Given the description of an element on the screen output the (x, y) to click on. 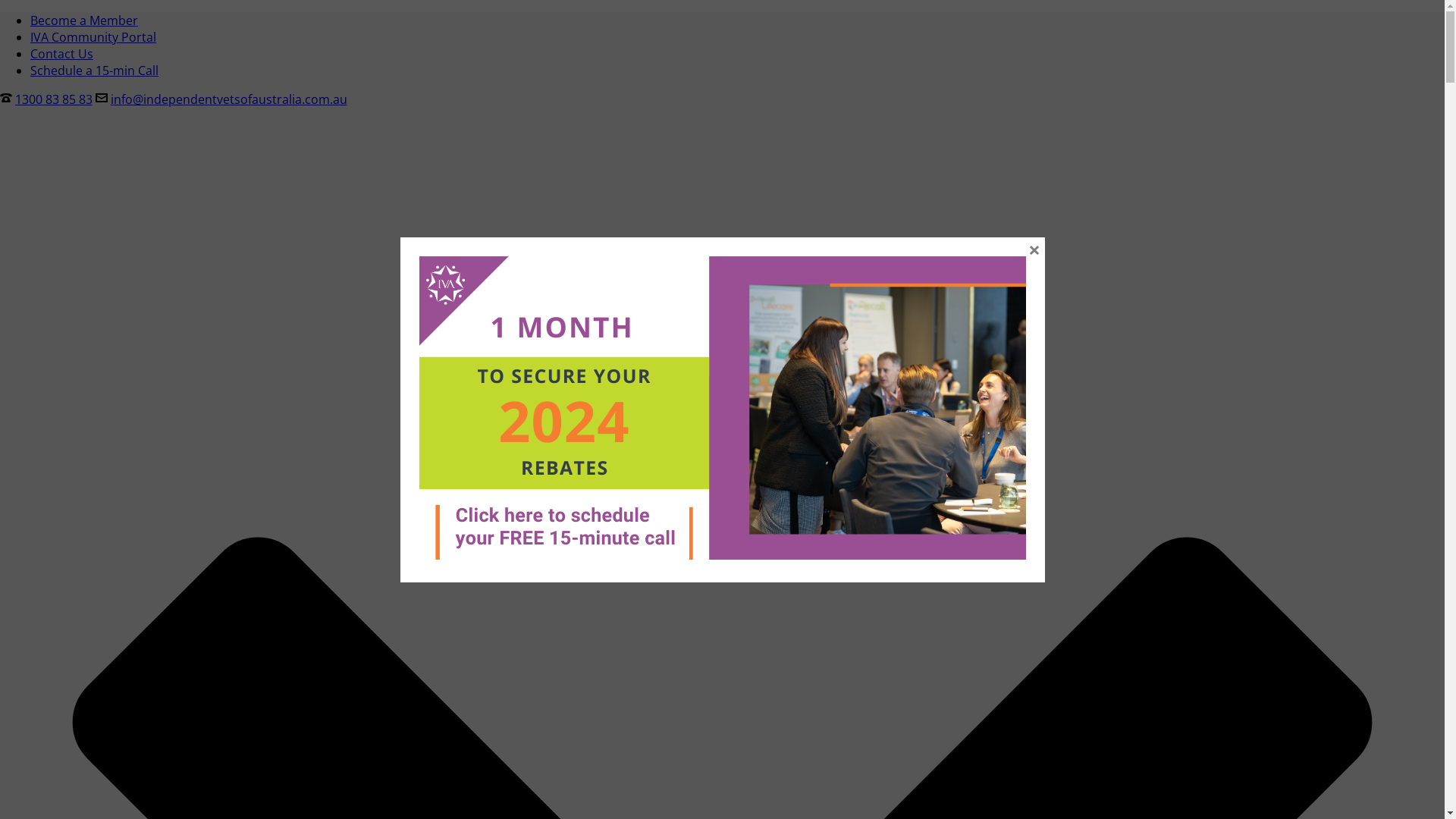
Become a Member Element type: text (84, 20)
Schedule a 15-min Call Element type: text (94, 70)
Contact Us Element type: text (61, 53)
1300 83 85 83 Element type: text (53, 99)
info@independentvetsofaustralia.com.au Element type: text (228, 99)
IVA Community Portal Element type: text (93, 36)
